Given the description of an element on the screen output the (x, y) to click on. 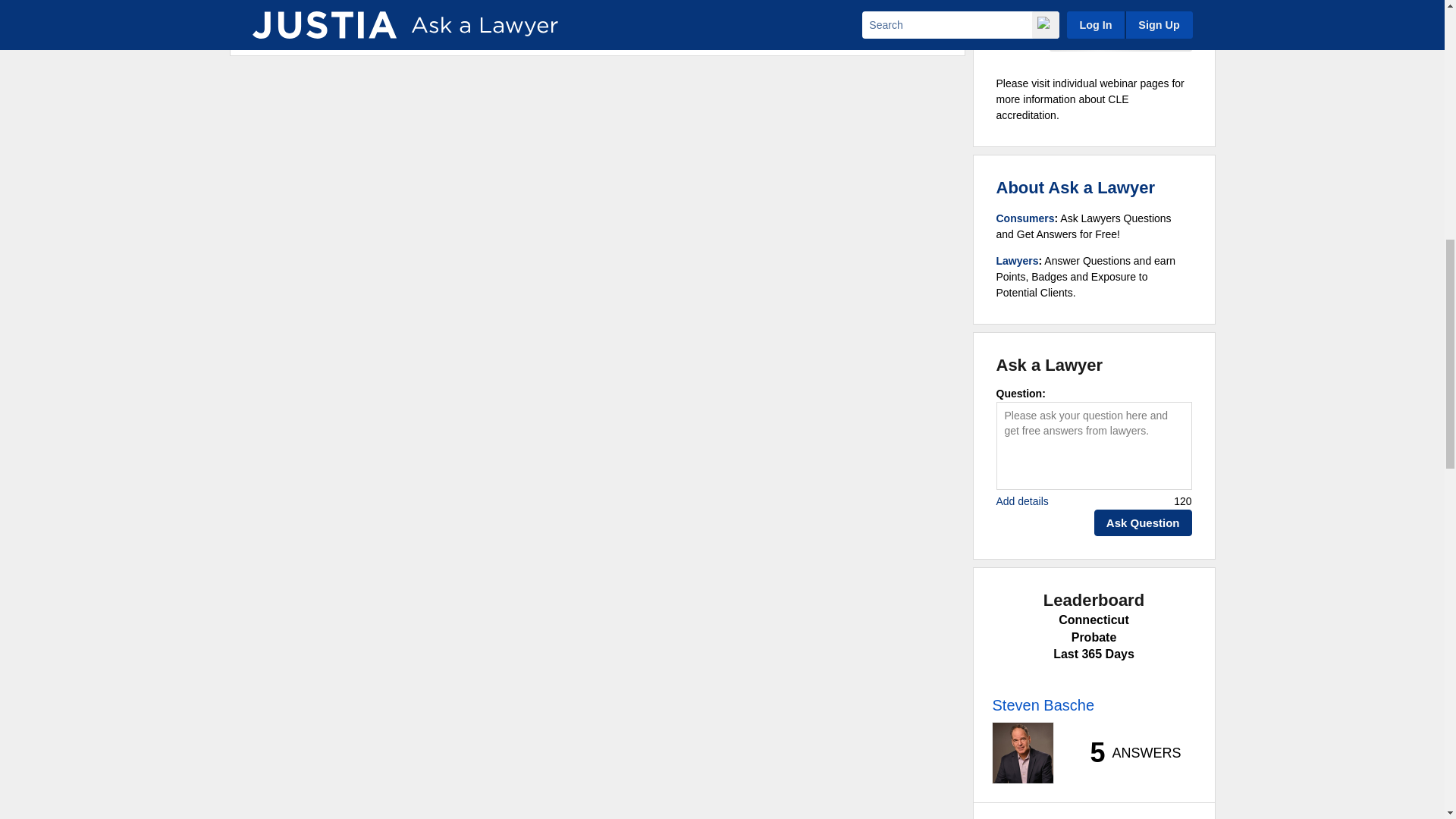
Report (904, 5)
Ask a Lawyer - Leaderboard - Lawyer Name (1042, 704)
Ask a Lawyer - FAQs - Lawyers (1017, 260)
Ask a Lawyer - FAQs - Consumers (1024, 218)
Ask a Lawyer - Leaderboard - Lawyer Stats (1127, 752)
I agree with this answer (329, 4)
Ask a Lawyer - Leaderboard - Lawyer Photo (1021, 752)
